Given the description of an element on the screen output the (x, y) to click on. 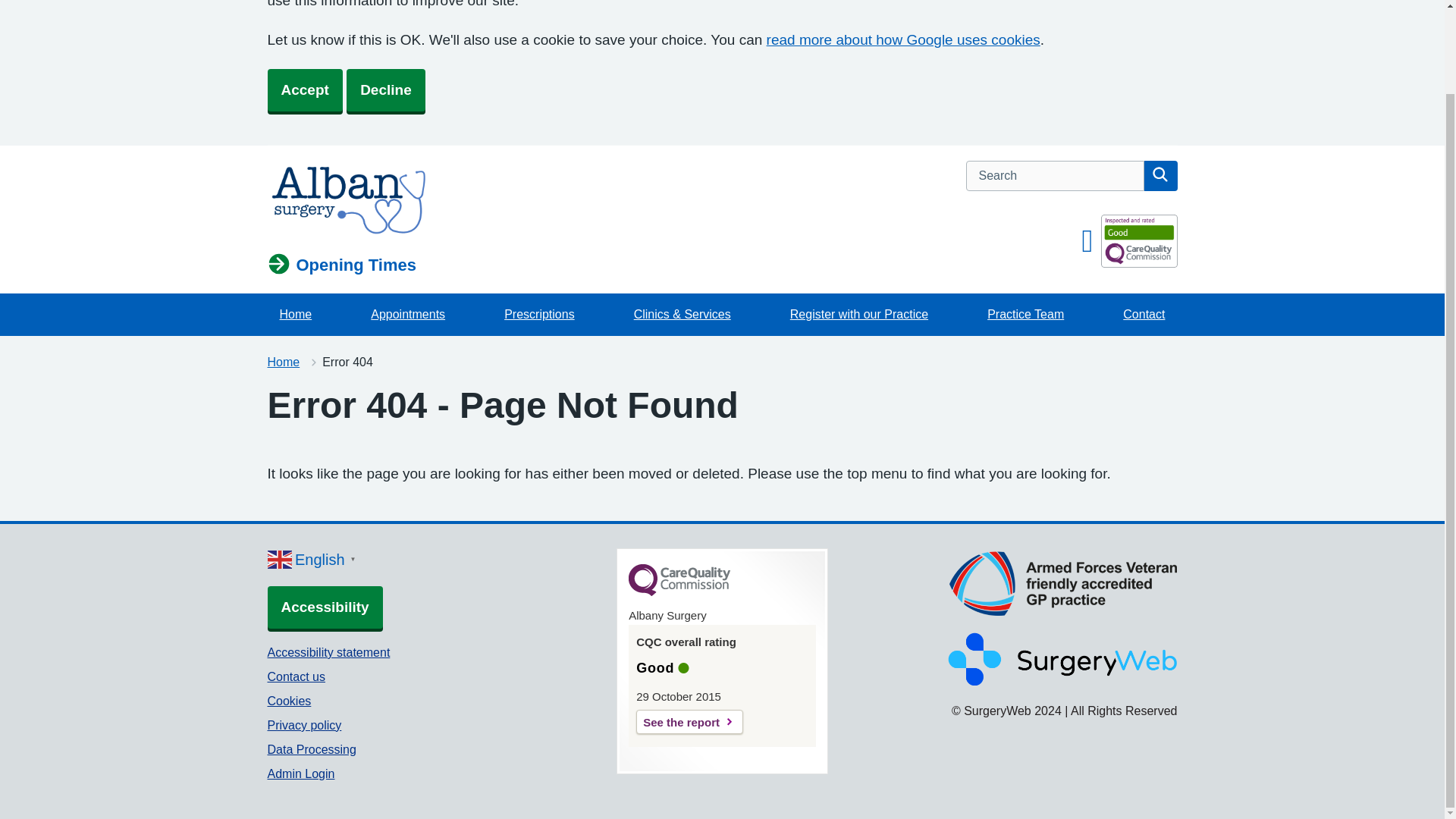
Practice Team (1025, 314)
CQC Logo (679, 592)
Appointments (407, 314)
Accept (304, 89)
Home (294, 314)
Home (282, 361)
read more about how Google uses cookies (904, 39)
Home (282, 361)
Register with our Practice (858, 314)
Opening Times (341, 265)
Contact (1143, 314)
Decline (385, 89)
Search (1159, 175)
Prescriptions (539, 314)
